Given the description of an element on the screen output the (x, y) to click on. 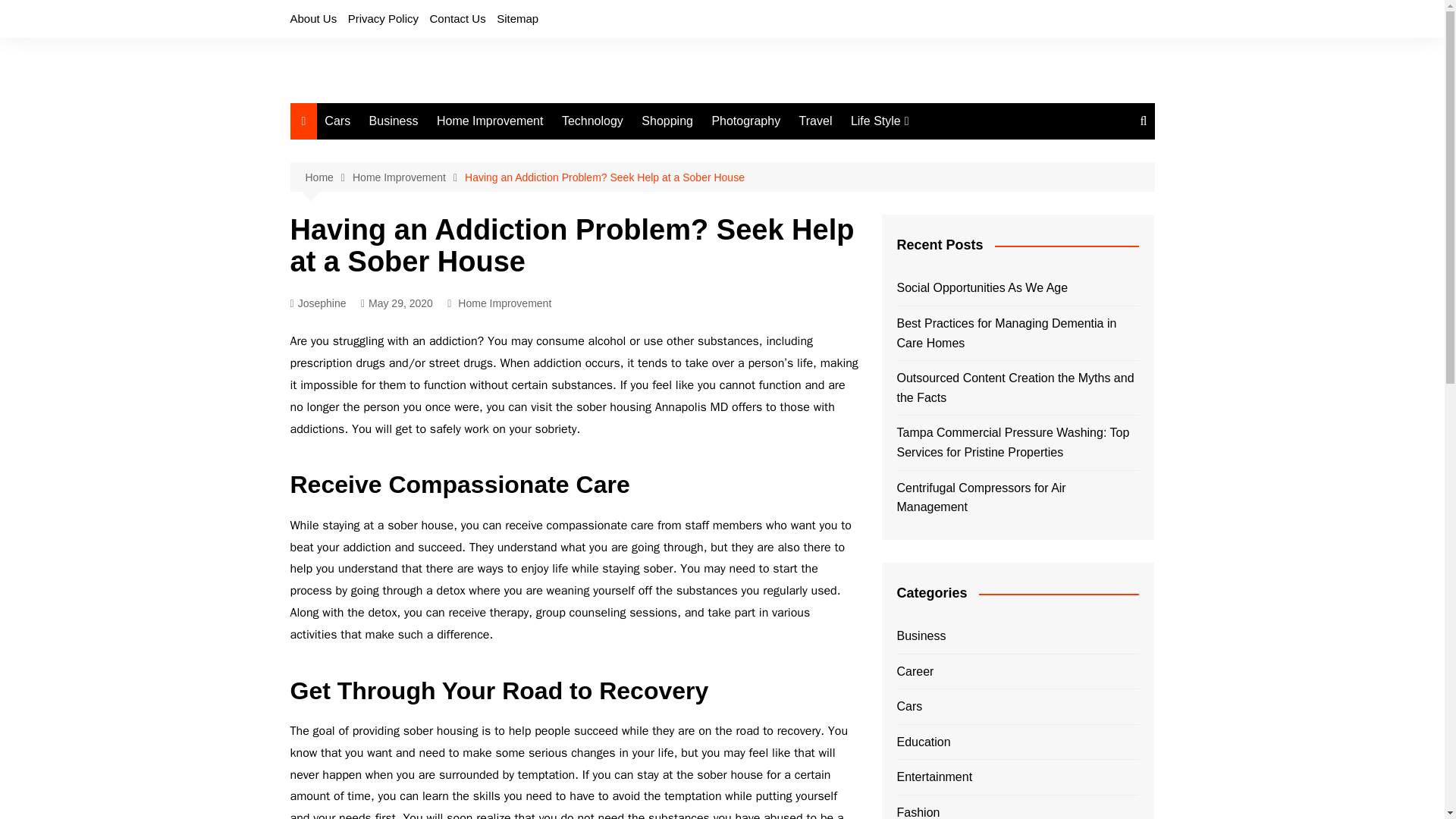
Life Style (880, 121)
Home Improvement (408, 177)
Josephine (317, 303)
Fashion (926, 151)
Home Improvement (490, 121)
Sitemap (517, 18)
Having an Addiction Problem? Seek Help at a Sober House (604, 176)
Technology (592, 121)
Photography (745, 121)
Food (926, 201)
